Given the description of an element on the screen output the (x, y) to click on. 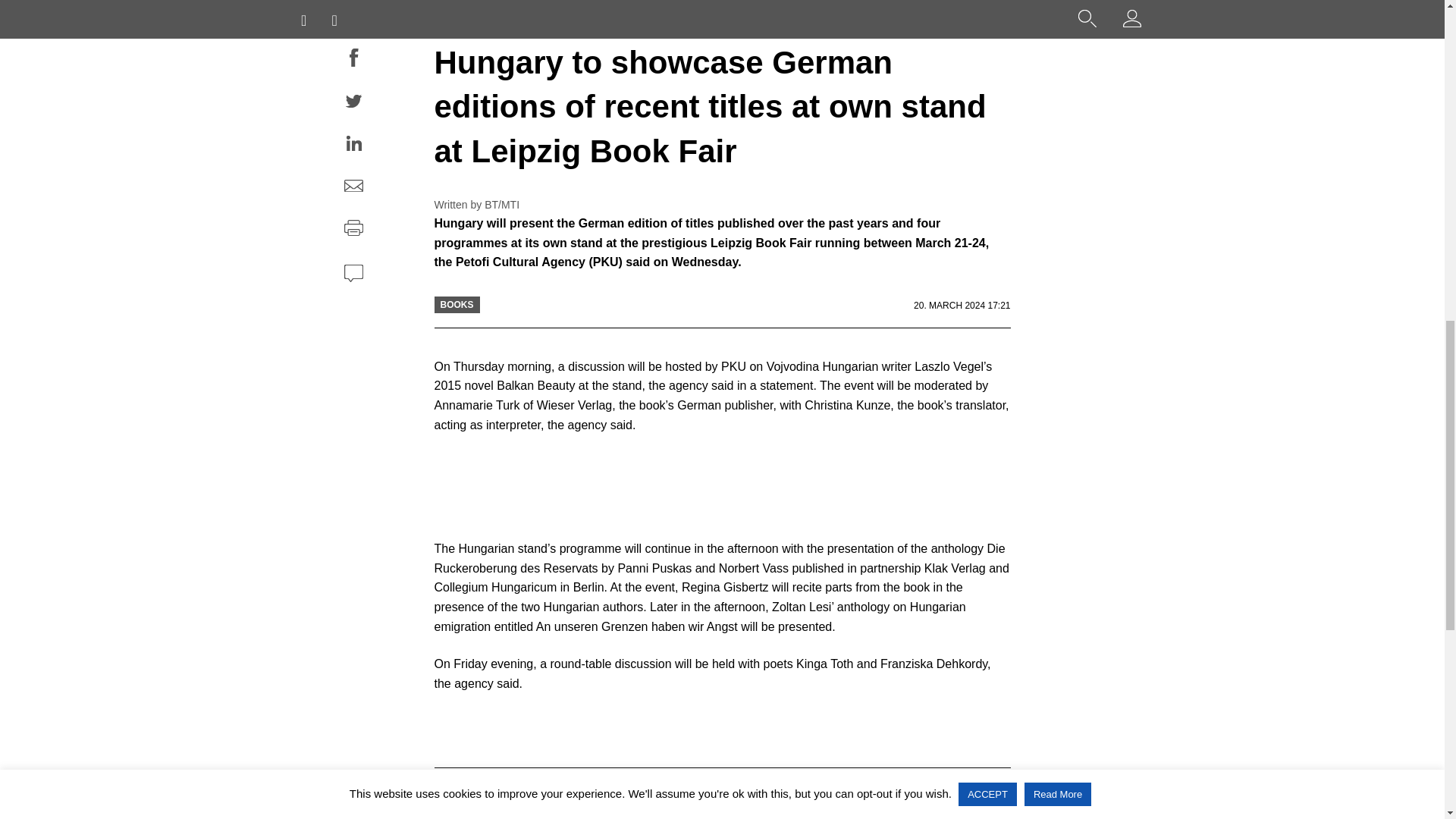
LinkedIn (352, 145)
Email (352, 188)
Print (352, 230)
Facebook (352, 60)
Twitter (352, 103)
